Given the description of an element on the screen output the (x, y) to click on. 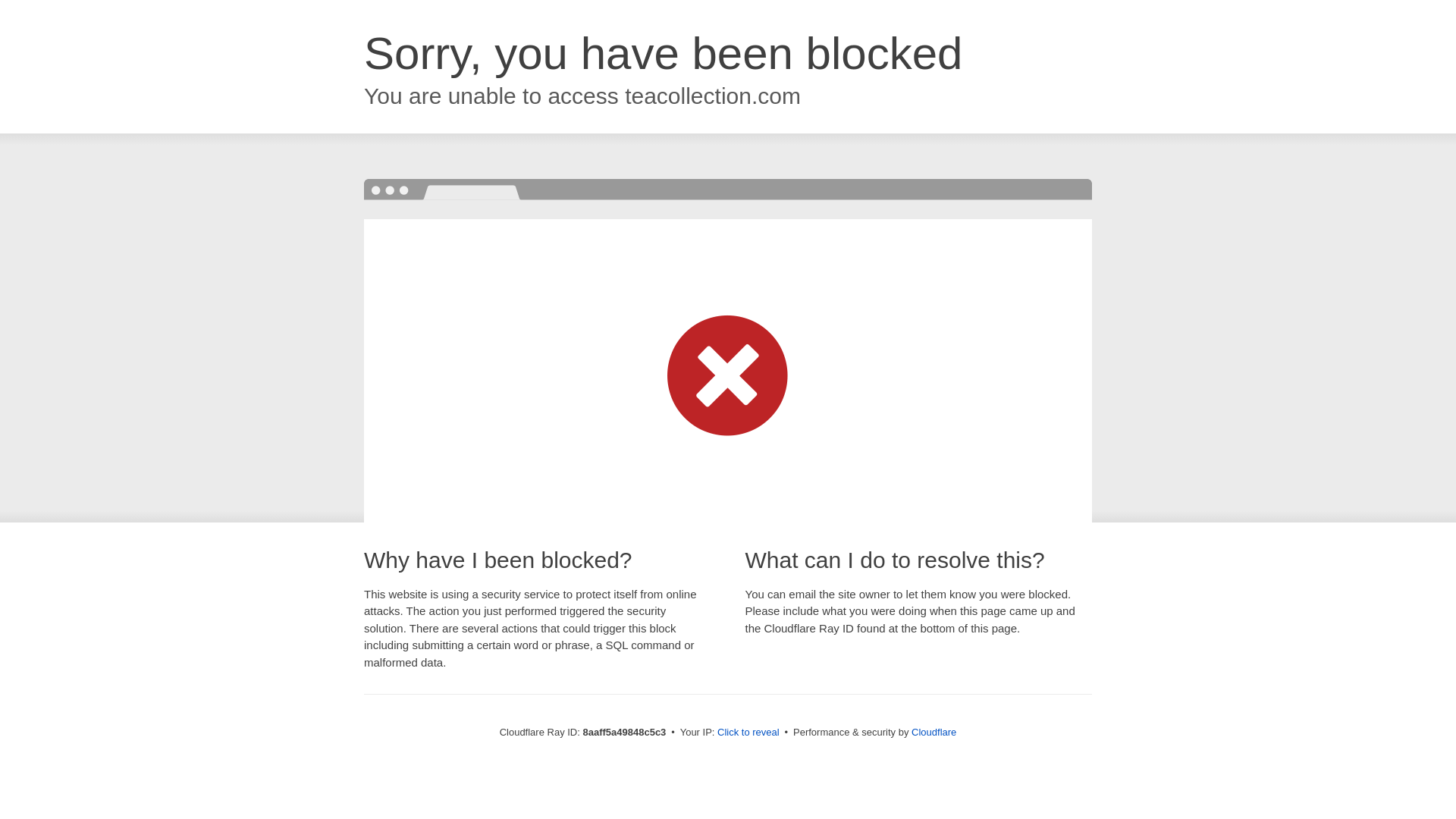
Cloudflare (933, 731)
Click to reveal (747, 732)
